Given the description of an element on the screen output the (x, y) to click on. 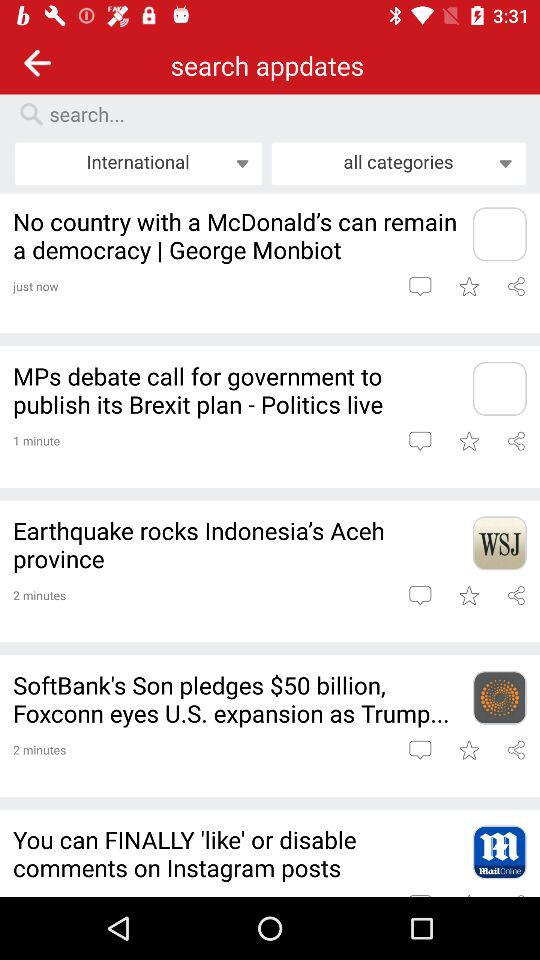
tap the item next to all categories icon (138, 163)
